Given the description of an element on the screen output the (x, y) to click on. 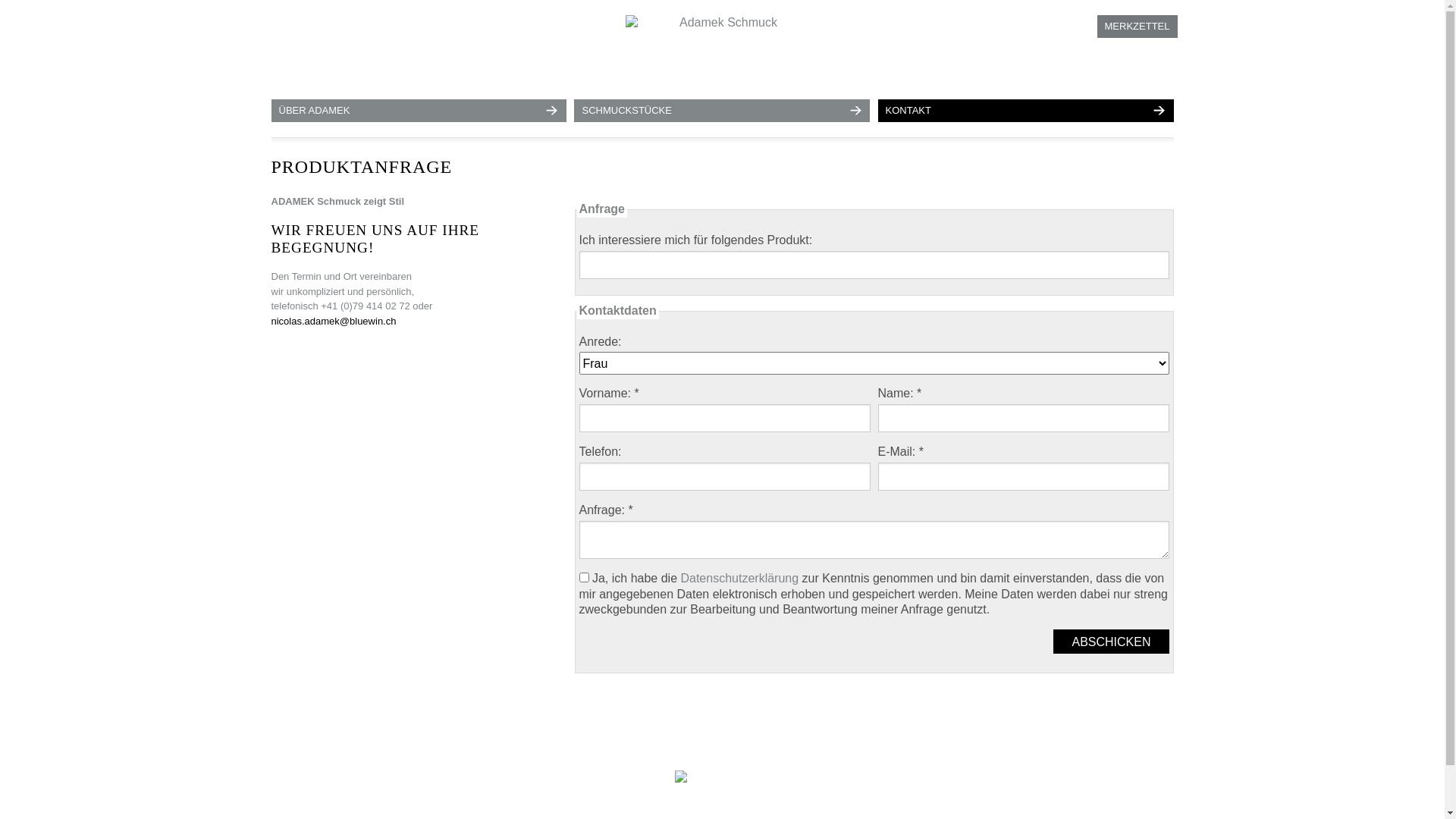
MERKZETTEL Element type: text (1137, 26)
KONTAKT Element type: text (1025, 111)
ABSCHICKEN Element type: text (1110, 641)
Zur Startseite von Adamek Schmuck Element type: hover (722, 49)
nicolas.adamek@bluewin.ch Element type: text (333, 320)
